Given the description of an element on the screen output the (x, y) to click on. 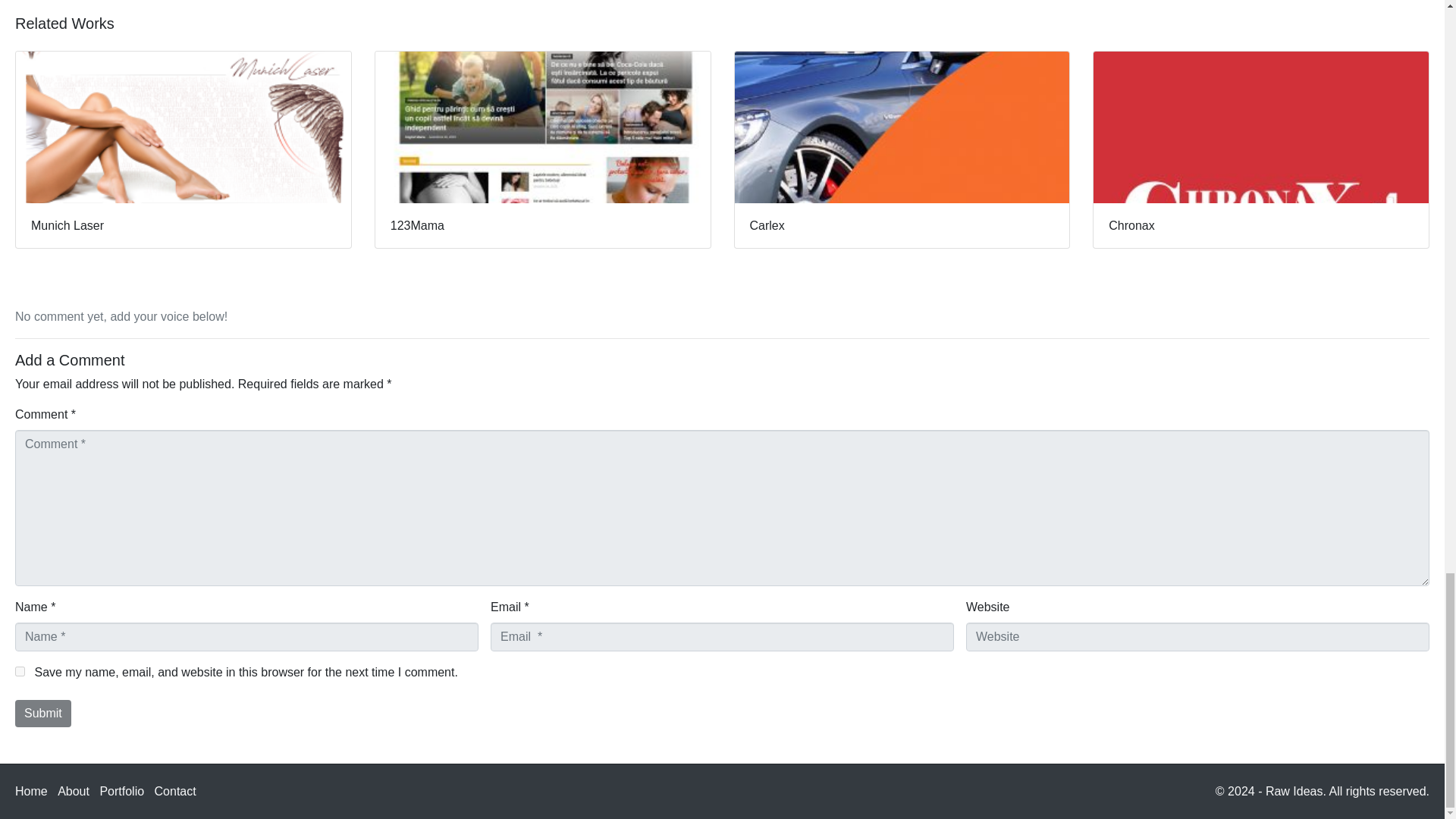
yes (19, 671)
Carlex (901, 149)
Portfolio (121, 790)
About (73, 790)
123Mama (542, 149)
Submit (42, 713)
Munich Laser (183, 149)
Home (31, 790)
Chronax (1261, 149)
Contact (175, 790)
